Given the description of an element on the screen output the (x, y) to click on. 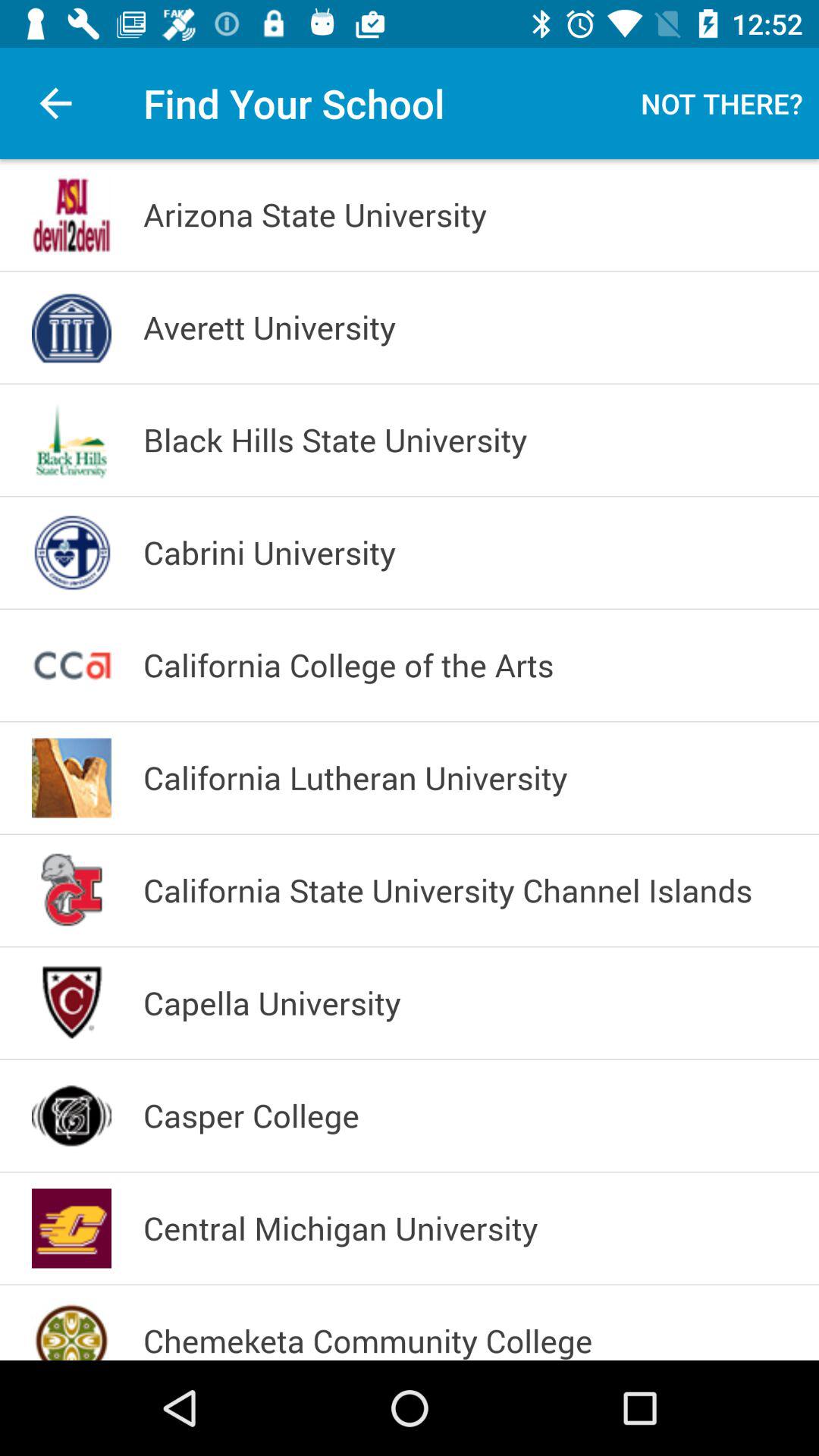
choose not there? icon (722, 103)
